Given the description of an element on the screen output the (x, y) to click on. 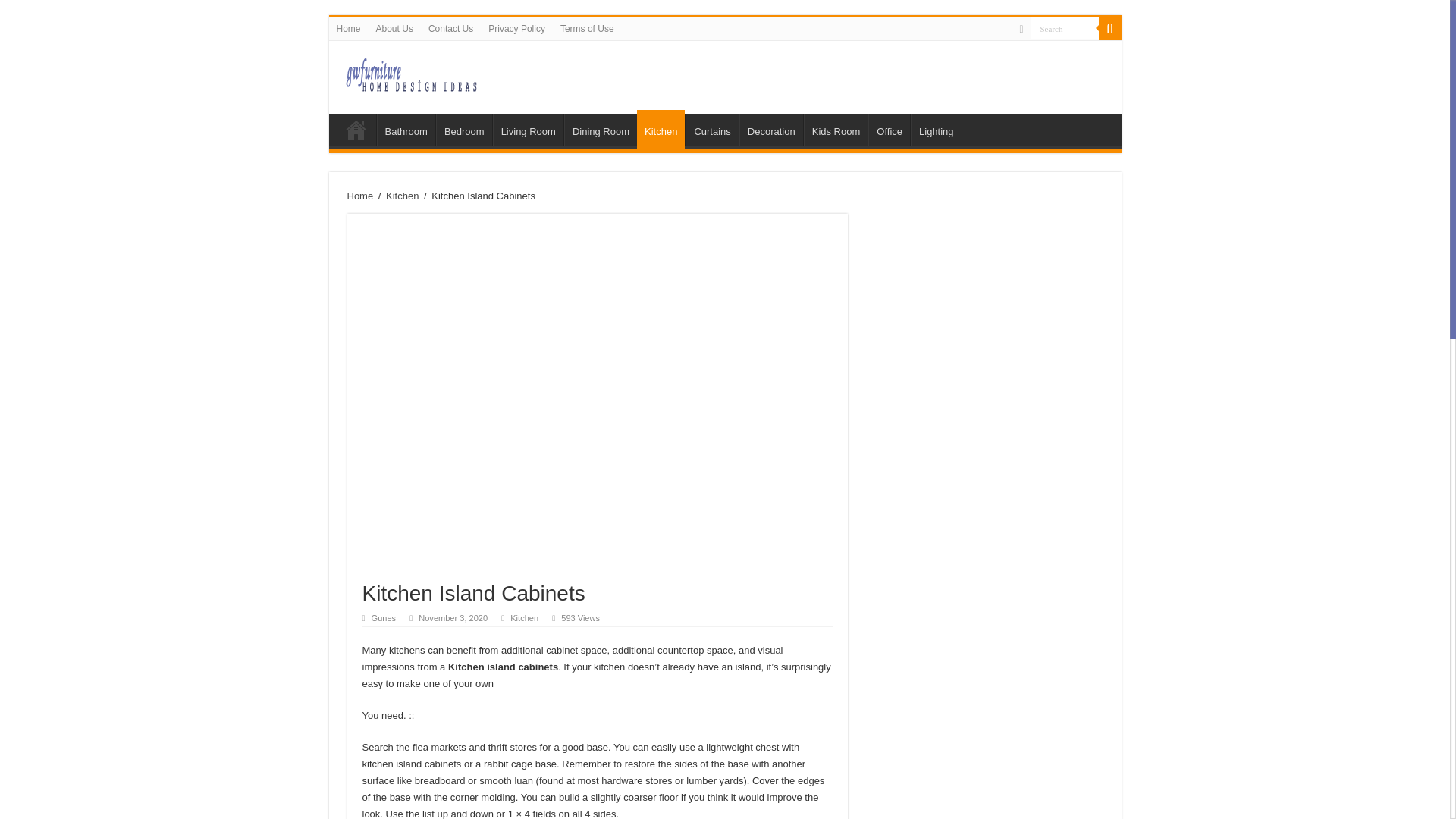
Terms of Use (587, 28)
Bathroom (404, 129)
Gunes (383, 617)
Bedroom (463, 129)
Kitchen (402, 195)
Dining Room (600, 129)
About Us (394, 28)
Office (888, 129)
Search (1109, 28)
Living Room (528, 129)
